Given the description of an element on the screen output the (x, y) to click on. 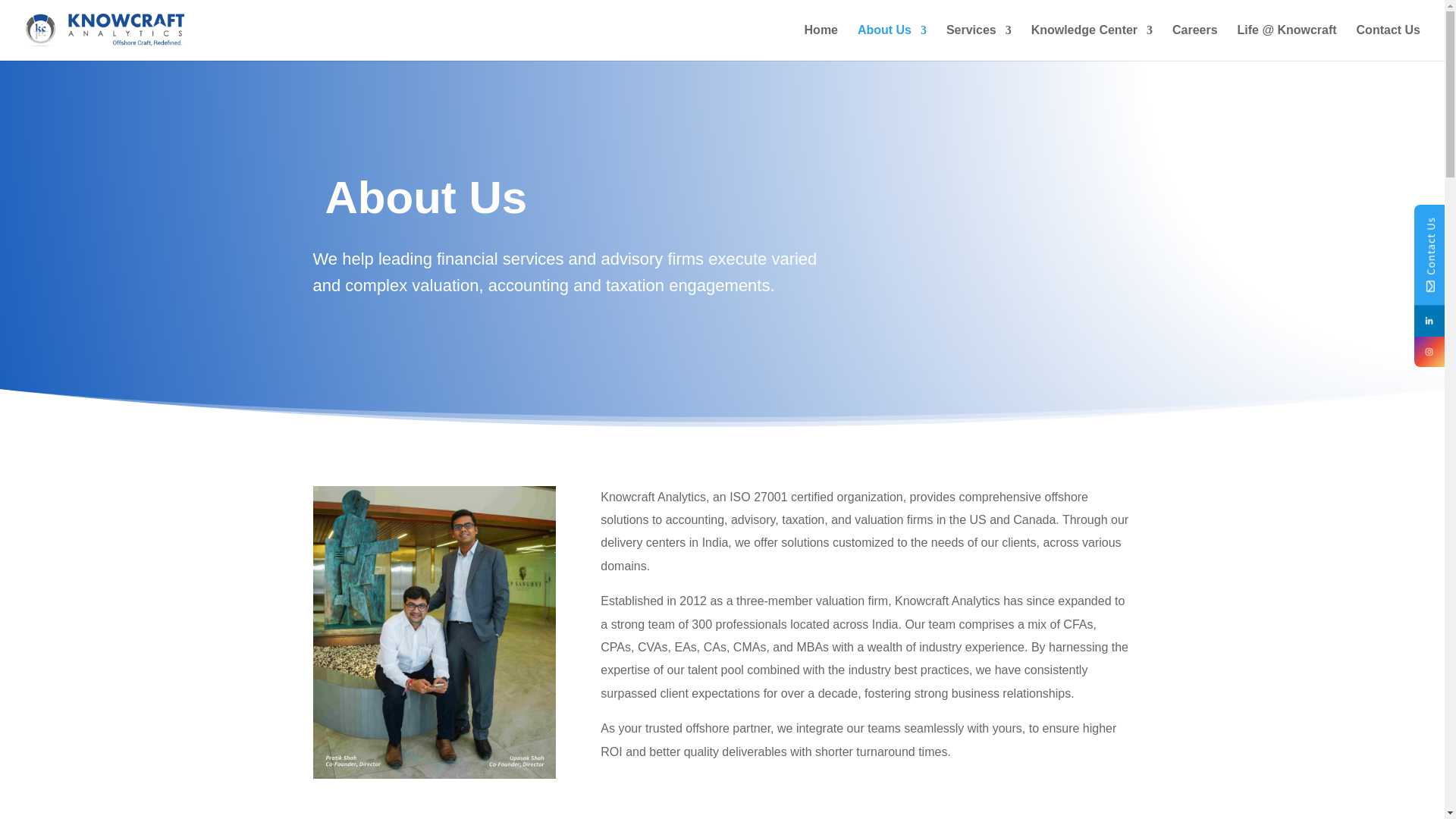
About Us (891, 42)
Careers (1194, 42)
Contact Us (1388, 42)
Services (978, 42)
Home (821, 42)
Knowledge Center (1091, 42)
